Given the description of an element on the screen output the (x, y) to click on. 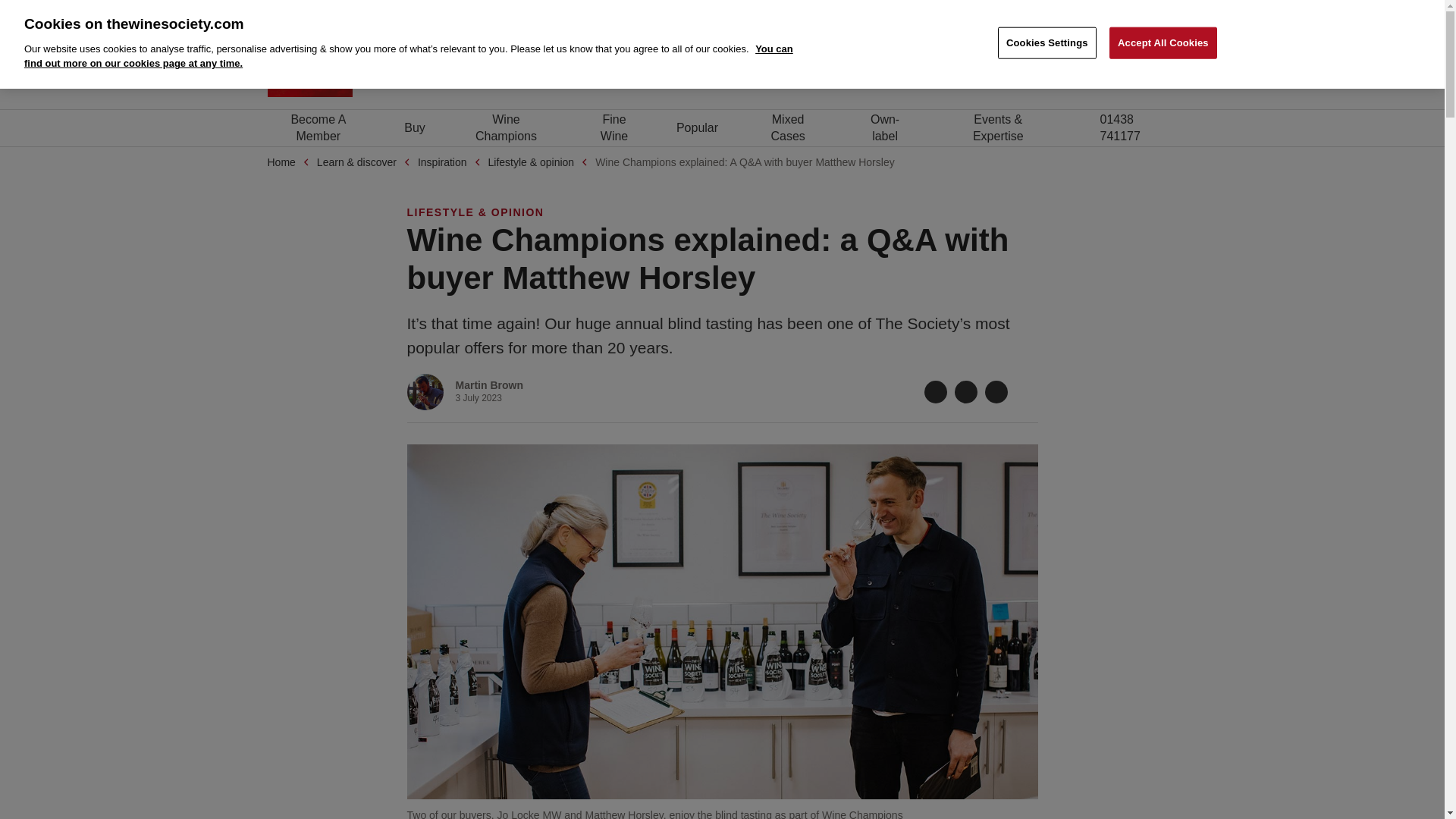
Become A Member (318, 127)
Help (1095, 66)
Buy (1166, 10)
Login (414, 127)
Community (1045, 66)
About Us (1002, 10)
Contact (1067, 10)
